Given the description of an element on the screen output the (x, y) to click on. 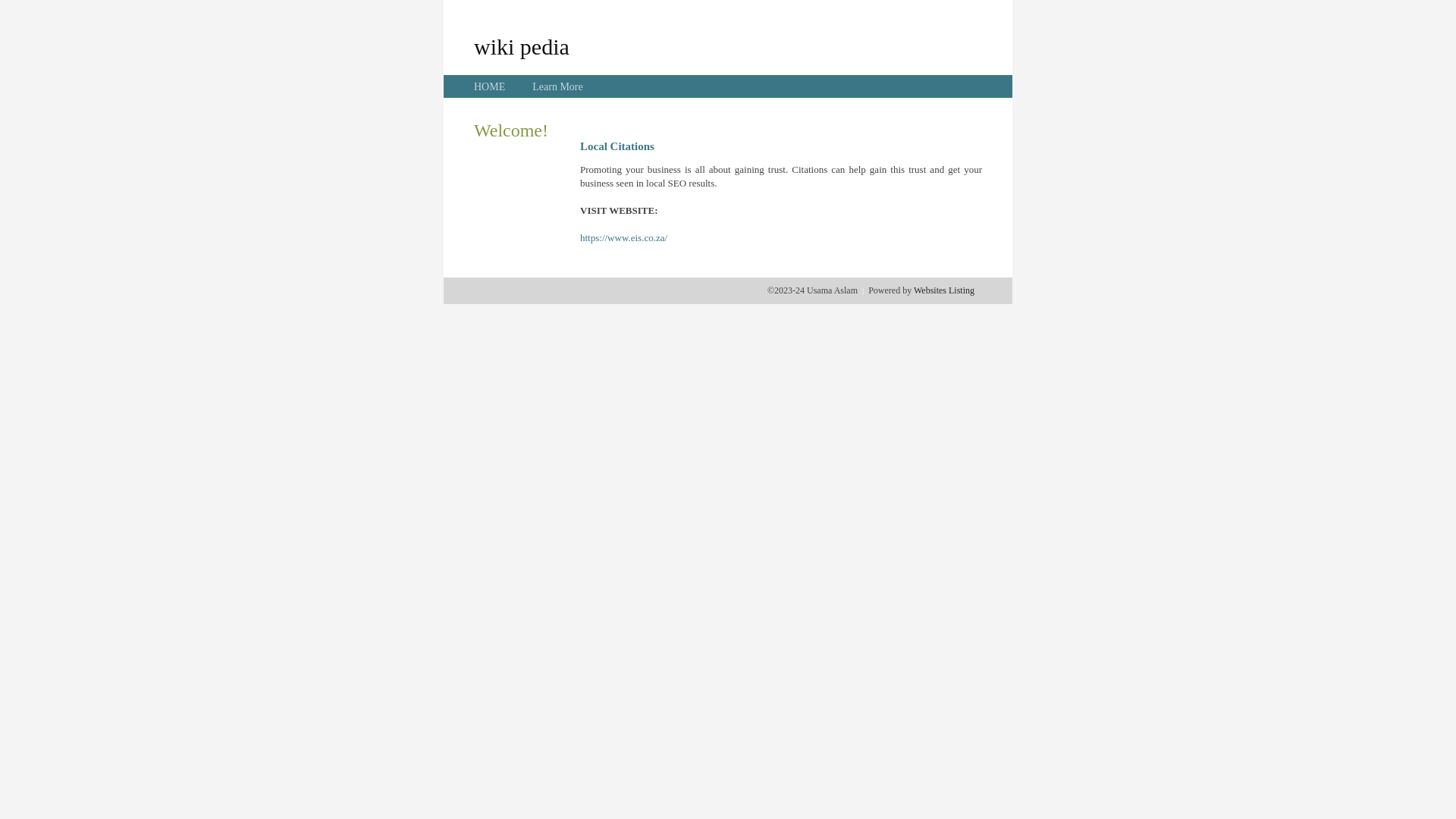
Websites Listing Element type: text (943, 290)
HOME Element type: text (489, 86)
https://www.eis.co.za/ Element type: text (623, 237)
wiki pedia Element type: text (521, 46)
Learn More Element type: text (557, 86)
